Given the description of an element on the screen output the (x, y) to click on. 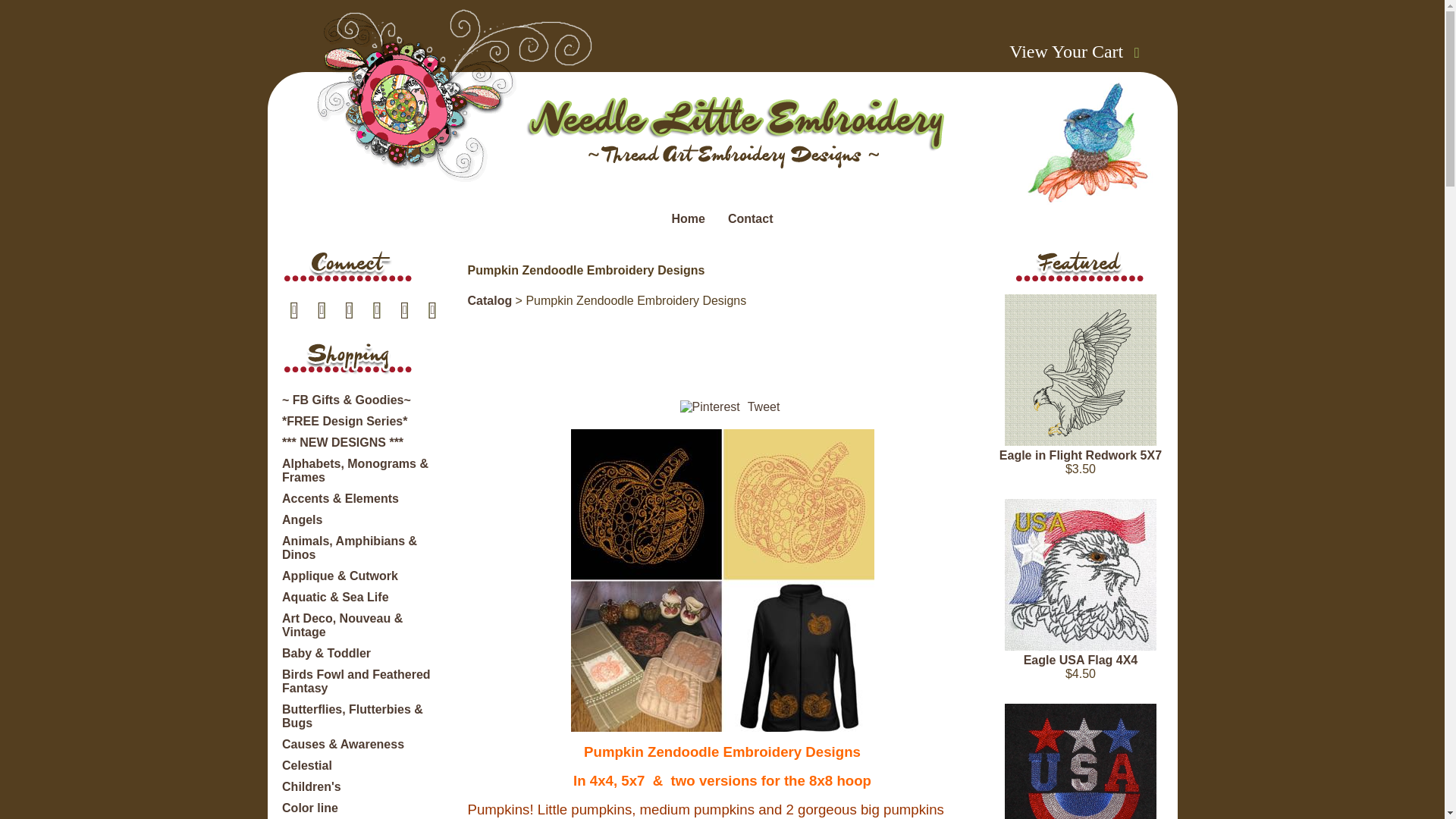
Color line (309, 807)
Pin It (709, 407)
Eagle in Flight Redwork 5X7 (1080, 369)
Children's (311, 786)
View Your Cart (1065, 51)
Pumpkin Zendoodle Embroidery Designs (721, 580)
Birds Fowl and Feathered Fantasy (363, 681)
Celestial (306, 766)
Contact (750, 218)
Eagle USA Flag 4X4 (1080, 574)
Home (687, 218)
Angels (301, 520)
